Given the description of an element on the screen output the (x, y) to click on. 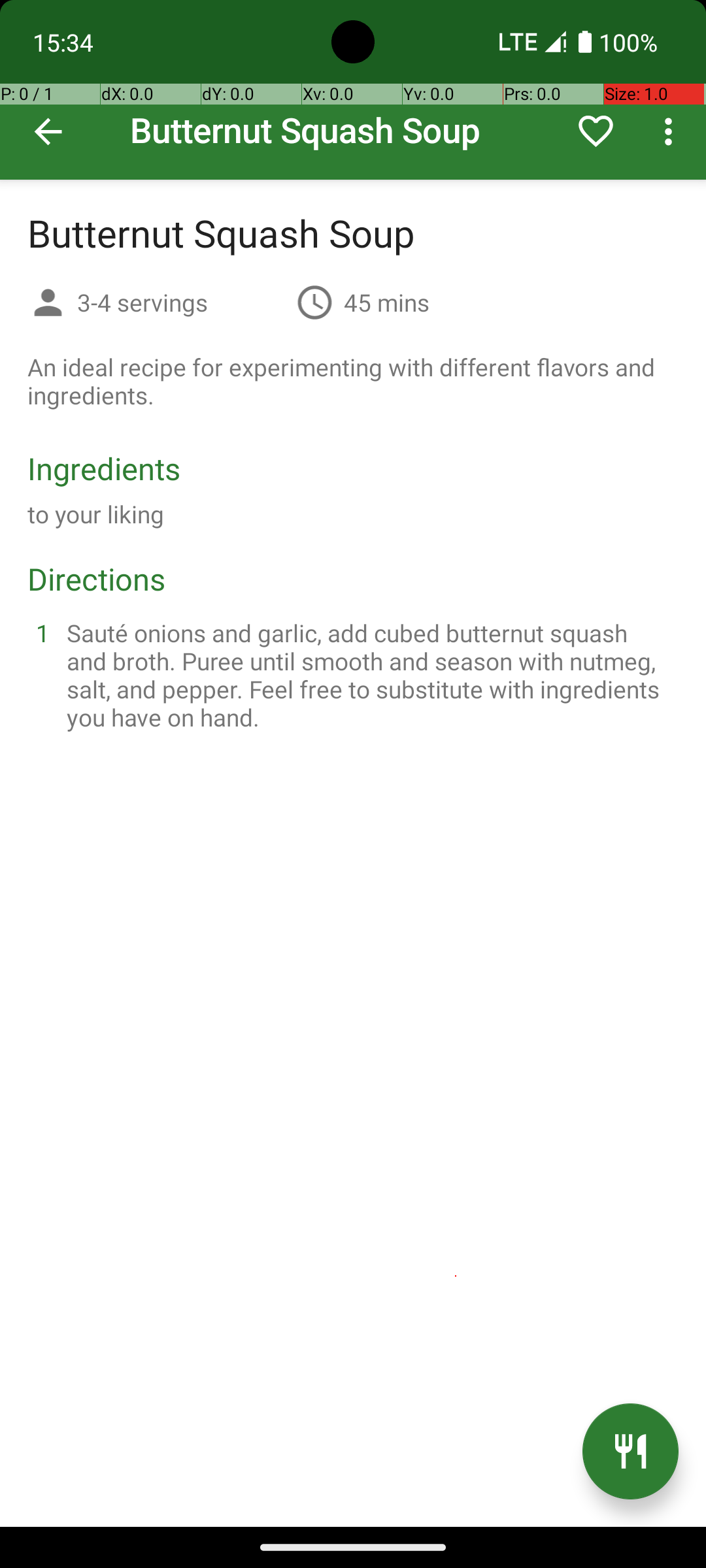
to your liking Element type: android.widget.TextView (95, 513)
Sauté onions and garlic, add cubed butternut squash and broth. Puree until smooth and season with nutmeg, salt, and pepper. Feel free to substitute with ingredients you have on hand. Element type: android.widget.TextView (368, 674)
